Given the description of an element on the screen output the (x, y) to click on. 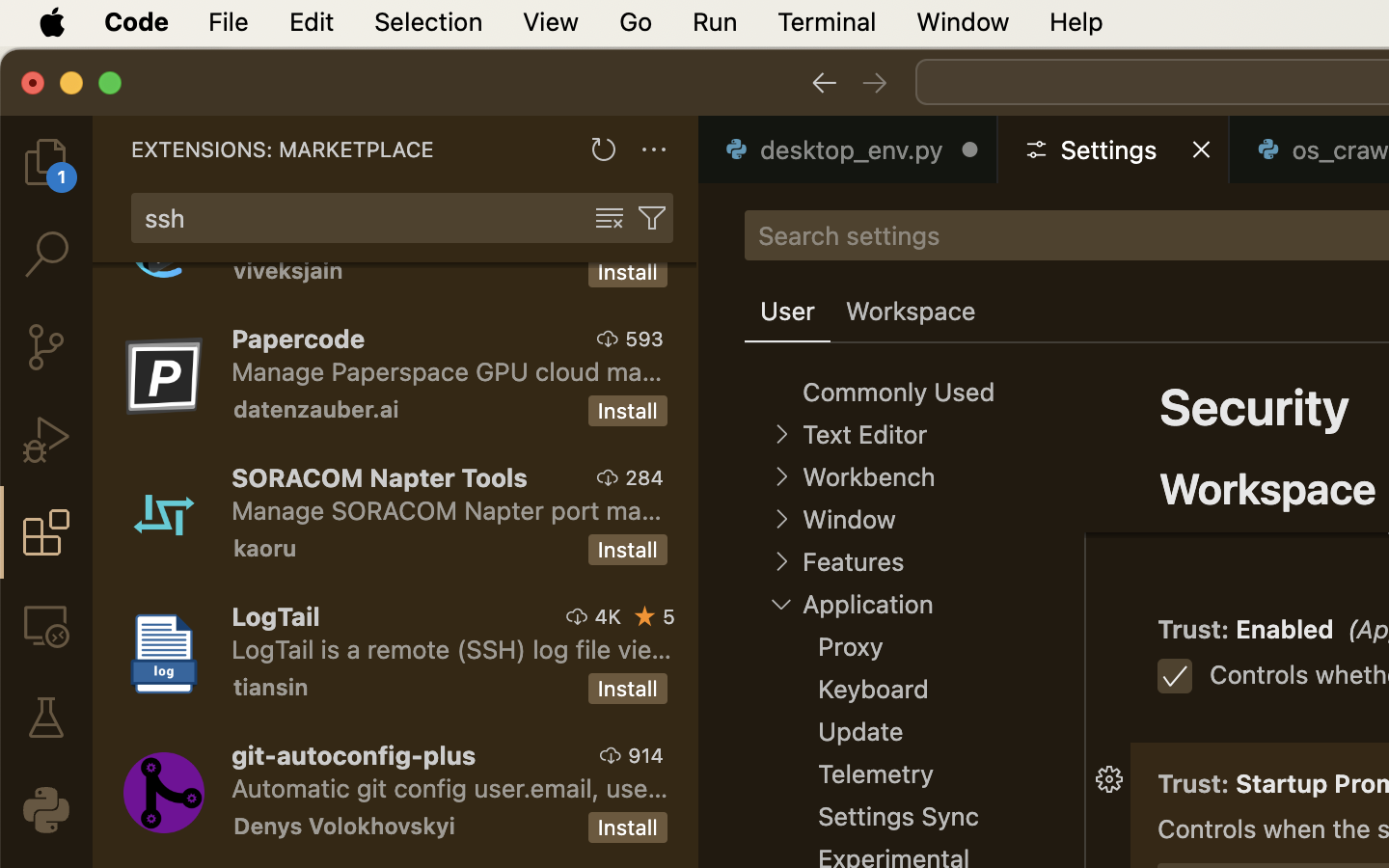
Keyboard Element type: AXStaticText (873, 689)
Text Editor Element type: AXStaticText (864, 434)
Workbench Element type: AXStaticText (868, 476)
0  Element type: AXRadioButton (46, 439)
 Element type: AXButton (874, 82)
